Given the description of an element on the screen output the (x, y) to click on. 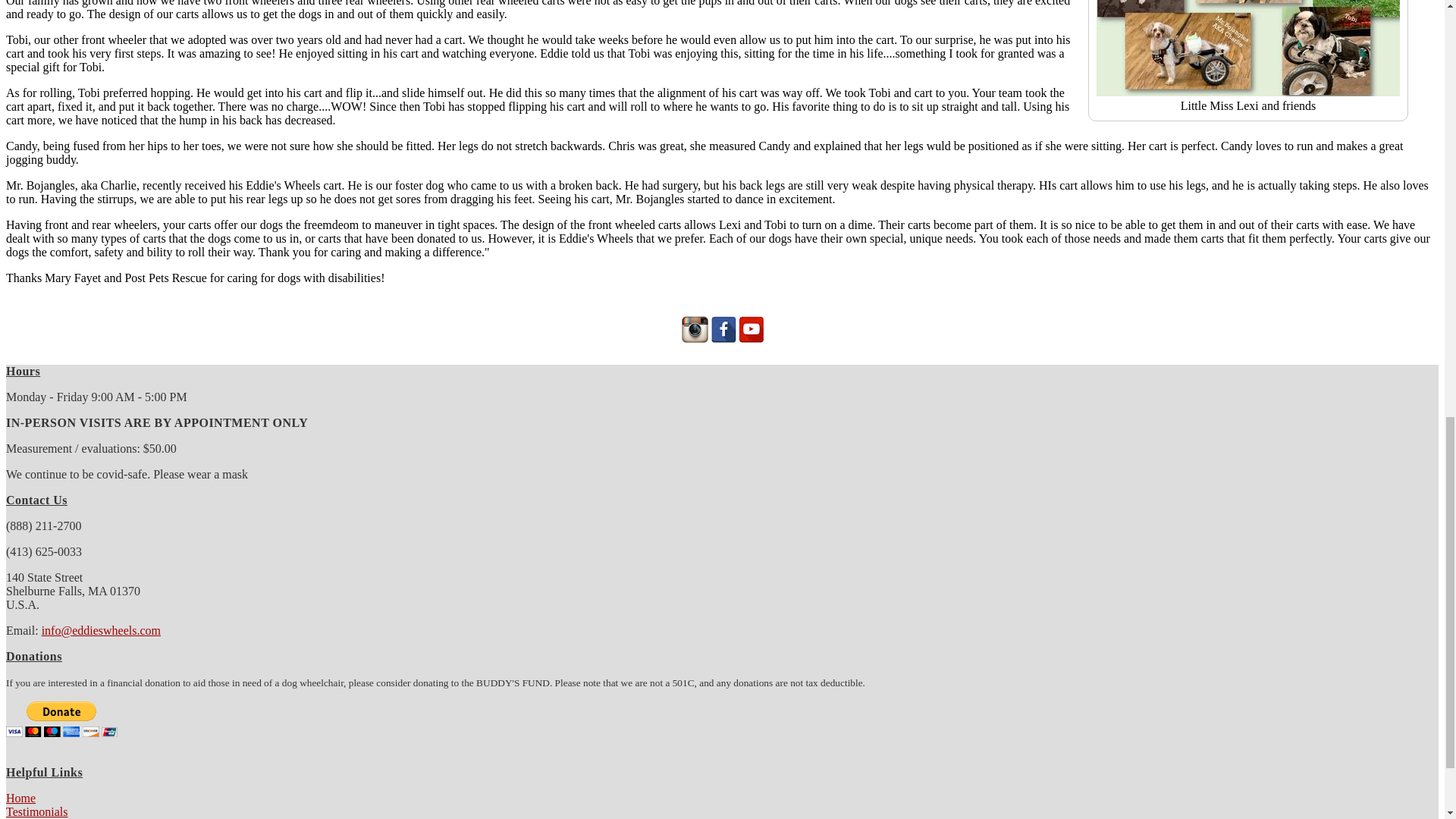
PayPal - The safer, easier way to pay online! (61, 719)
